Given the description of an element on the screen output the (x, y) to click on. 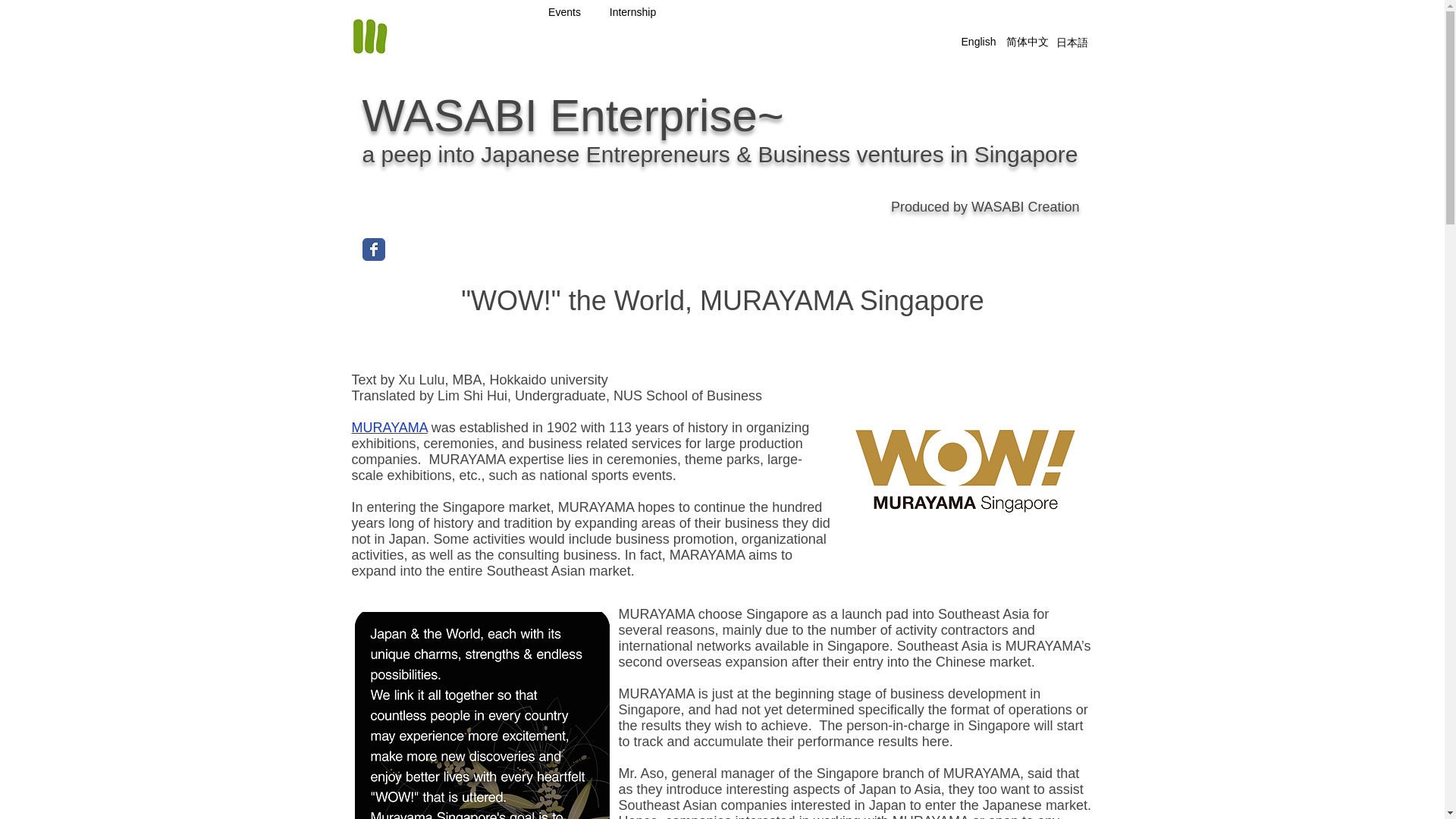
Untitled4.png (482, 715)
Untitled1.png (965, 467)
Events (564, 11)
Internship (633, 11)
